Given the description of an element on the screen output the (x, y) to click on. 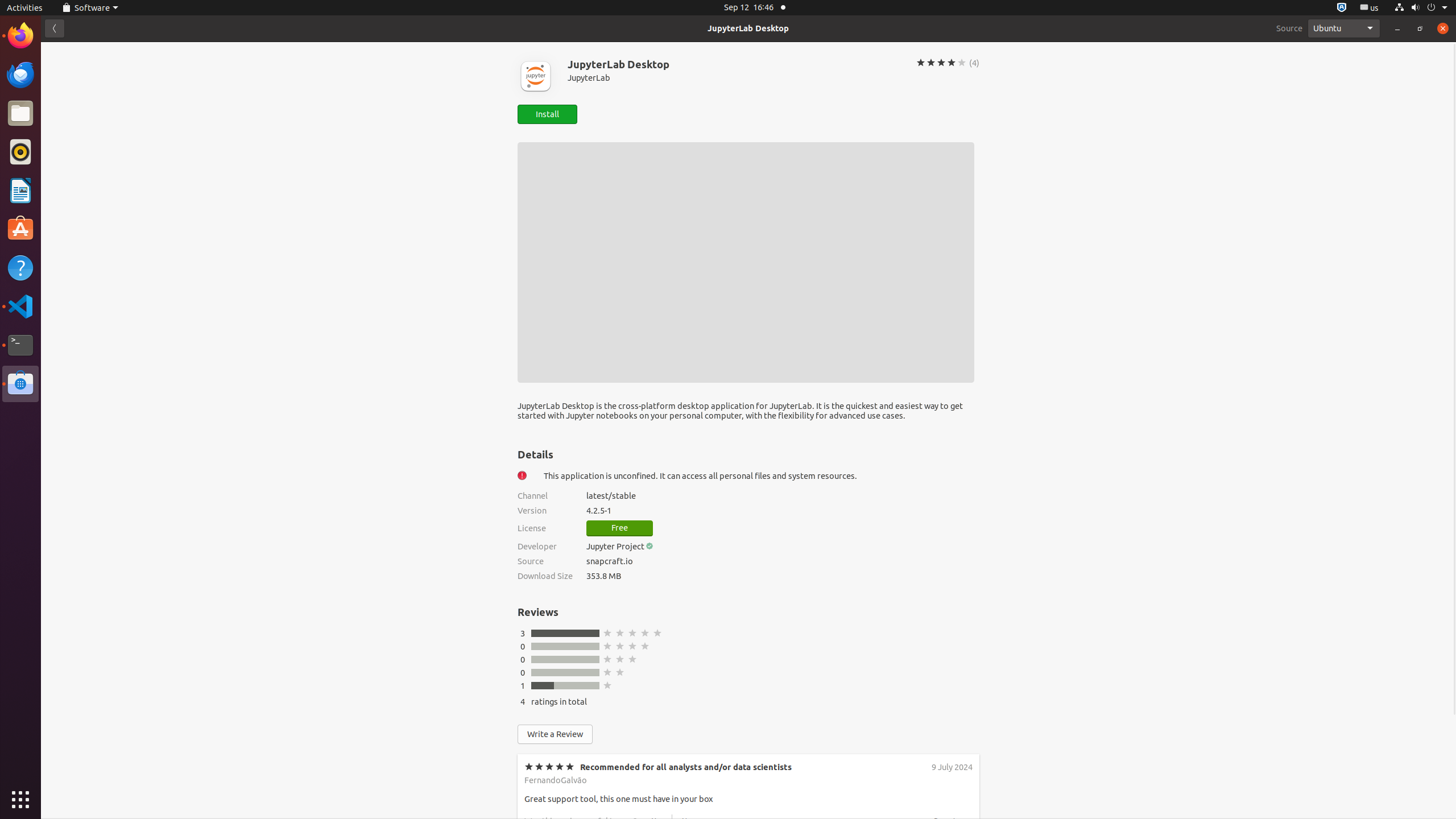
latest/stable Element type: label (782, 495)
Terminal Element type: push-button (20, 344)
Channel Element type: label (544, 495)
Reviews Element type: label (537, 611)
